Given the description of an element on the screen output the (x, y) to click on. 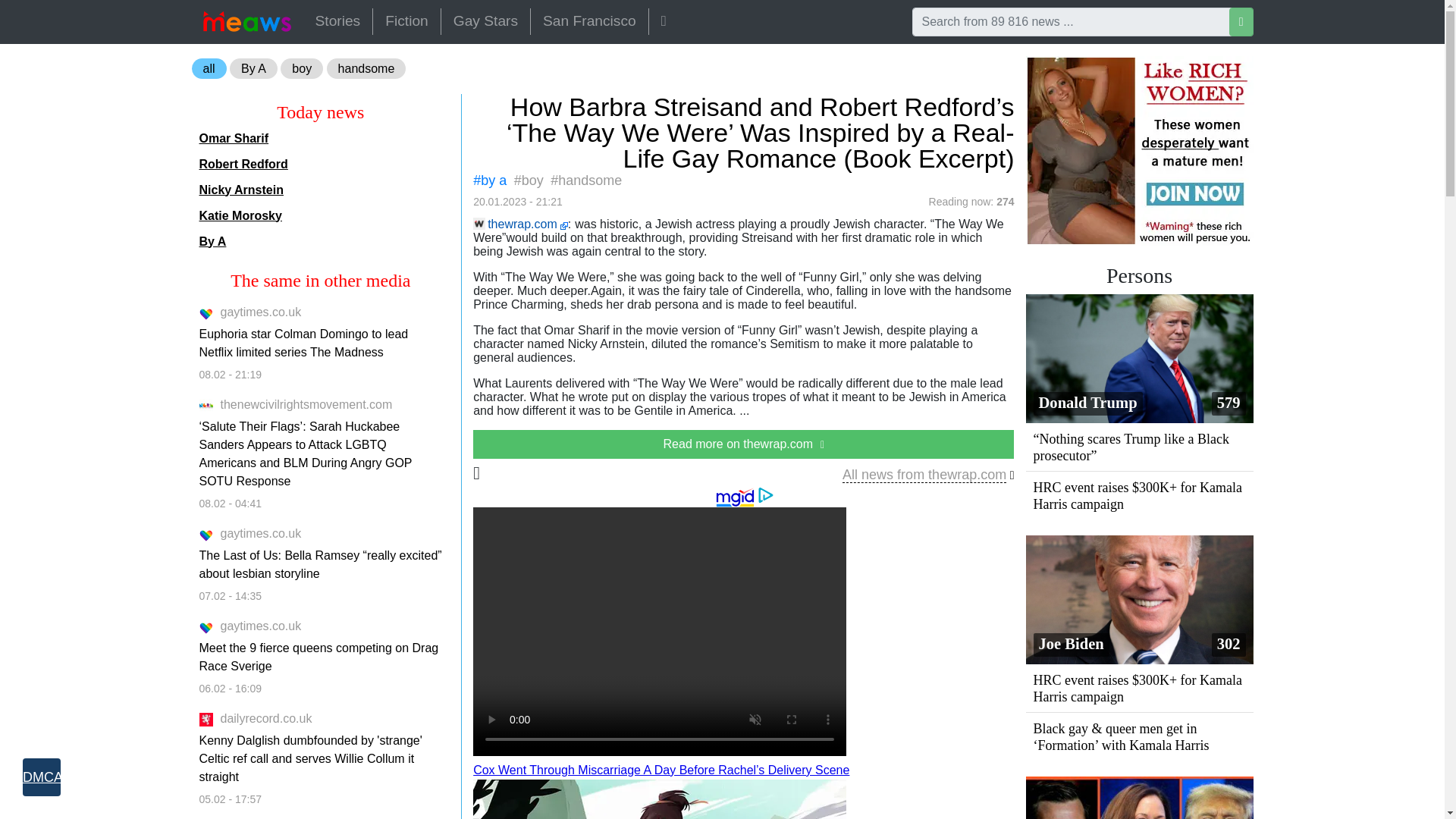
Gay Stars (485, 21)
Fiction (406, 21)
Stories (337, 21)
Gay Stars (485, 21)
San Francisco (589, 21)
Stories (337, 21)
San Francisco (589, 21)
Fiction (406, 21)
